Given the description of an element on the screen output the (x, y) to click on. 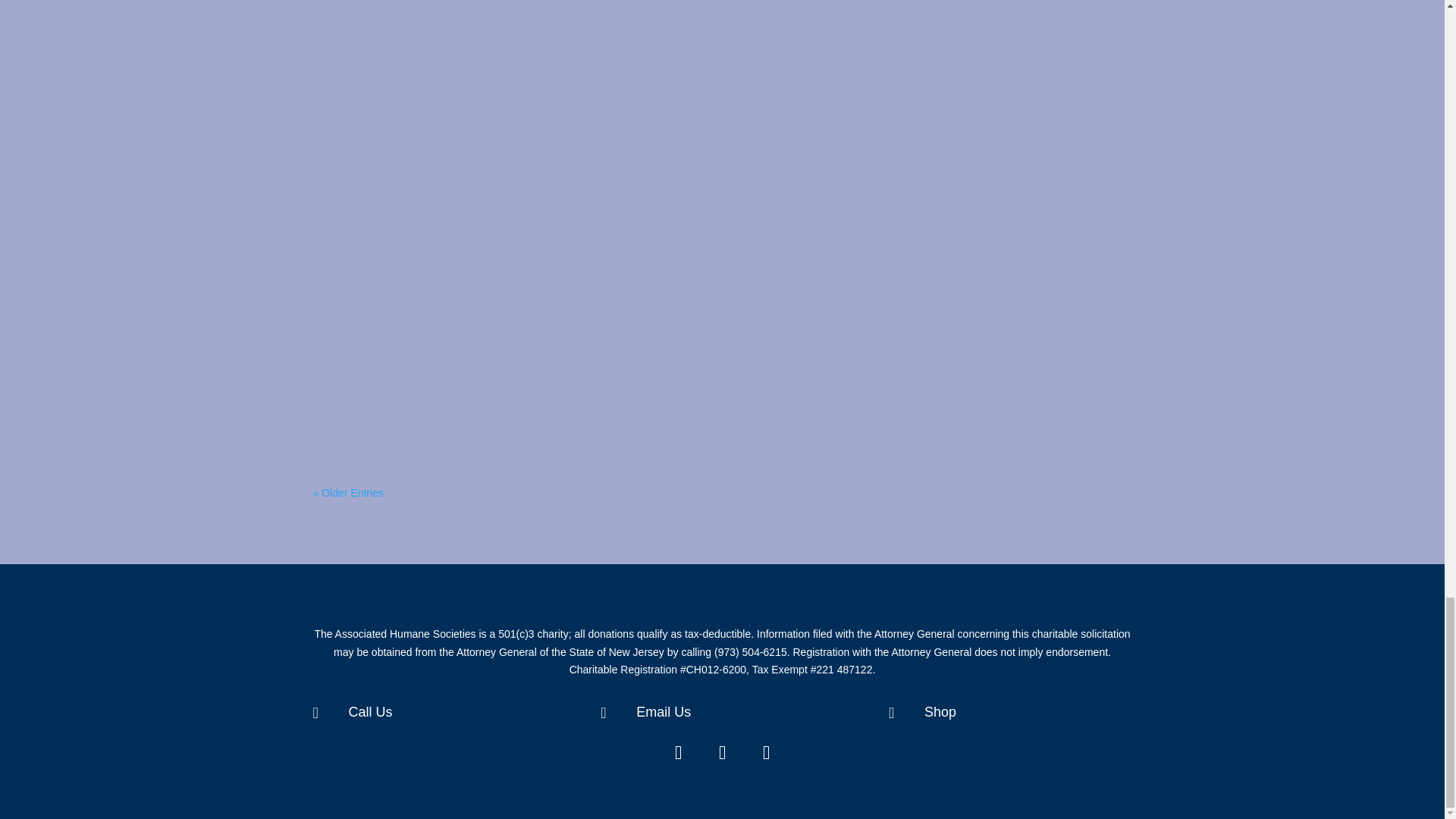
Follow on Instagram (722, 752)
Follow on TikTok (767, 752)
Follow on Facebook (678, 752)
